Given the description of an element on the screen output the (x, y) to click on. 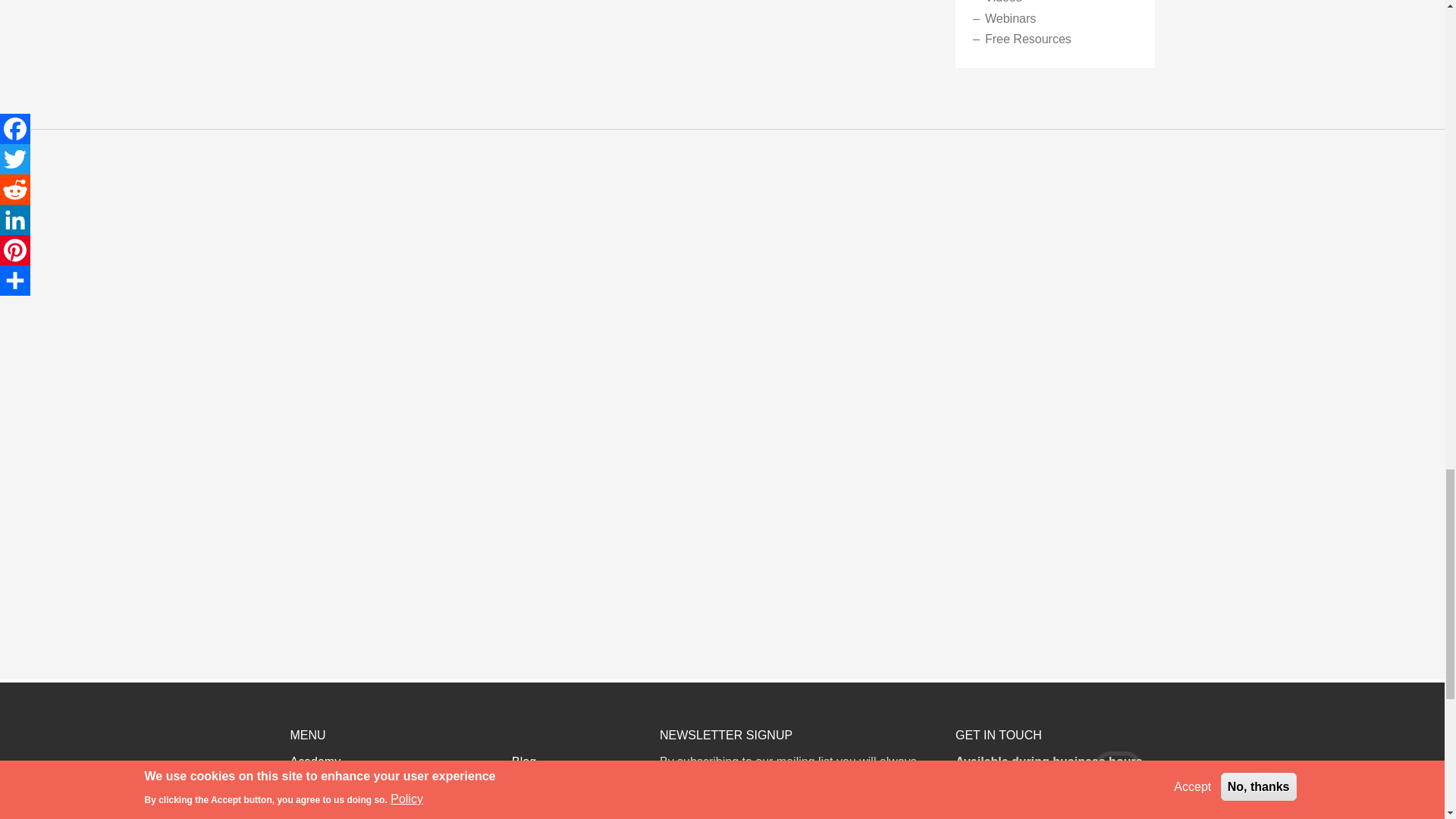
Form 1 (796, 809)
